Given the description of an element on the screen output the (x, y) to click on. 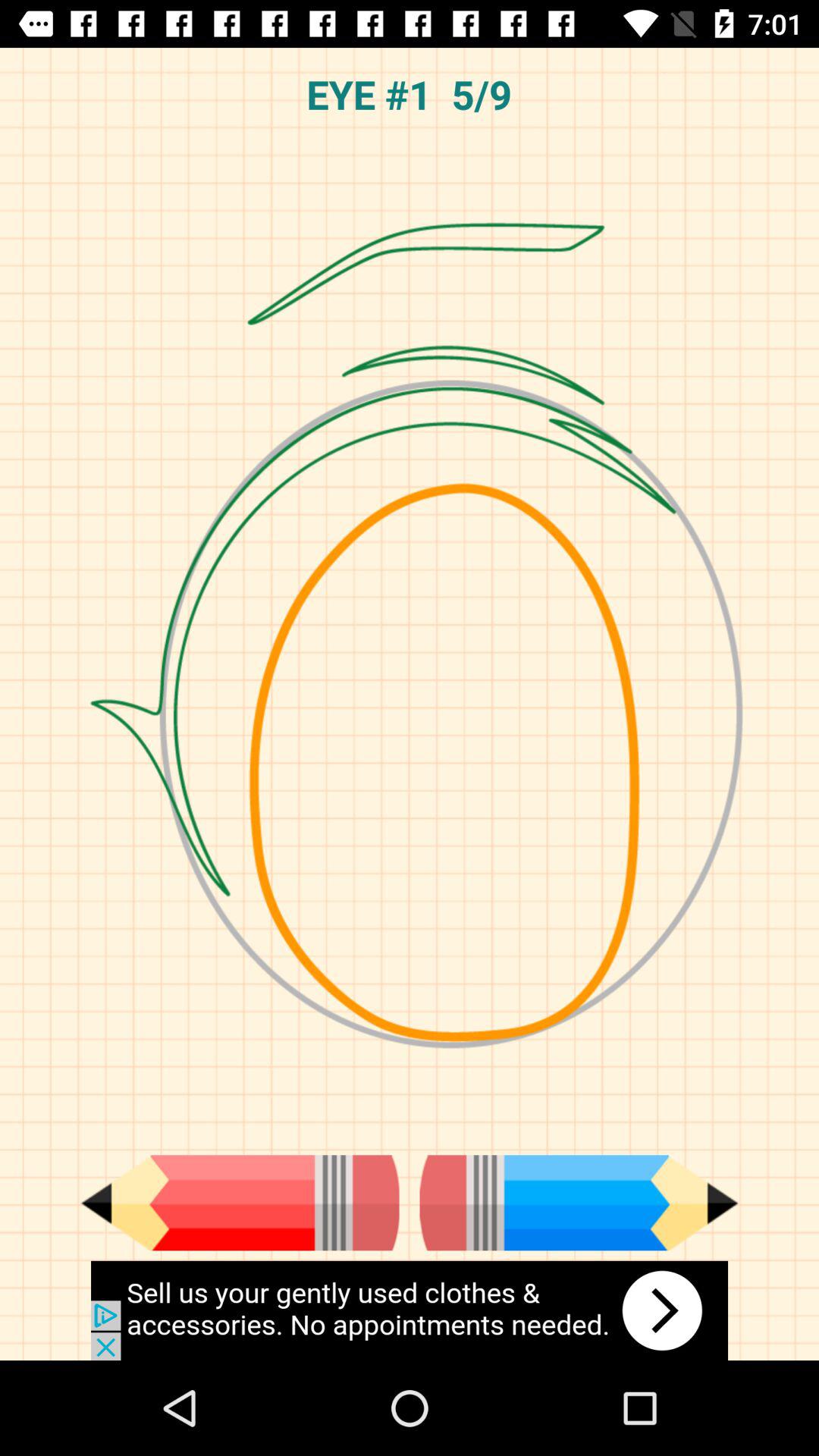
click advertisement (409, 1310)
